Given the description of an element on the screen output the (x, y) to click on. 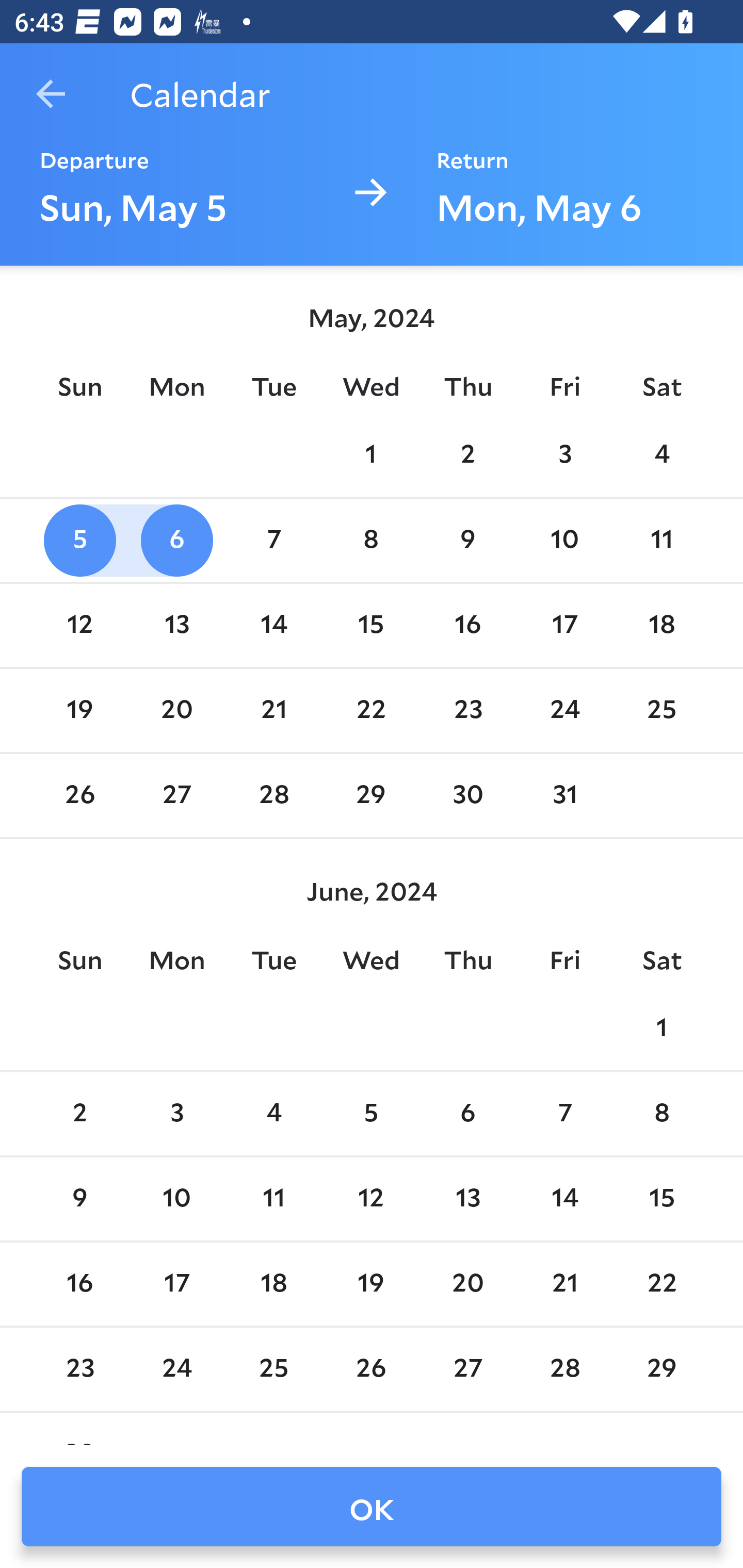
Navigate up (50, 93)
1 (371, 454)
2 (467, 454)
3 (565, 454)
4 (661, 454)
5 (79, 540)
6 (177, 540)
7 (273, 540)
8 (371, 540)
9 (467, 540)
10 (565, 540)
11 (661, 540)
12 (79, 625)
13 (177, 625)
14 (273, 625)
15 (371, 625)
16 (467, 625)
17 (565, 625)
18 (661, 625)
19 (79, 710)
20 (177, 710)
21 (273, 710)
22 (371, 710)
23 (467, 710)
24 (565, 710)
25 (661, 710)
26 (79, 796)
27 (177, 796)
28 (273, 796)
29 (371, 796)
30 (467, 796)
31 (565, 796)
1 (661, 1028)
2 (79, 1114)
3 (177, 1114)
4 (273, 1114)
5 (371, 1114)
6 (467, 1114)
7 (565, 1114)
8 (661, 1114)
9 (79, 1199)
10 (177, 1199)
11 (273, 1199)
12 (371, 1199)
13 (467, 1199)
14 (565, 1199)
15 (661, 1199)
16 (79, 1284)
17 (177, 1284)
18 (273, 1284)
